Given the description of an element on the screen output the (x, y) to click on. 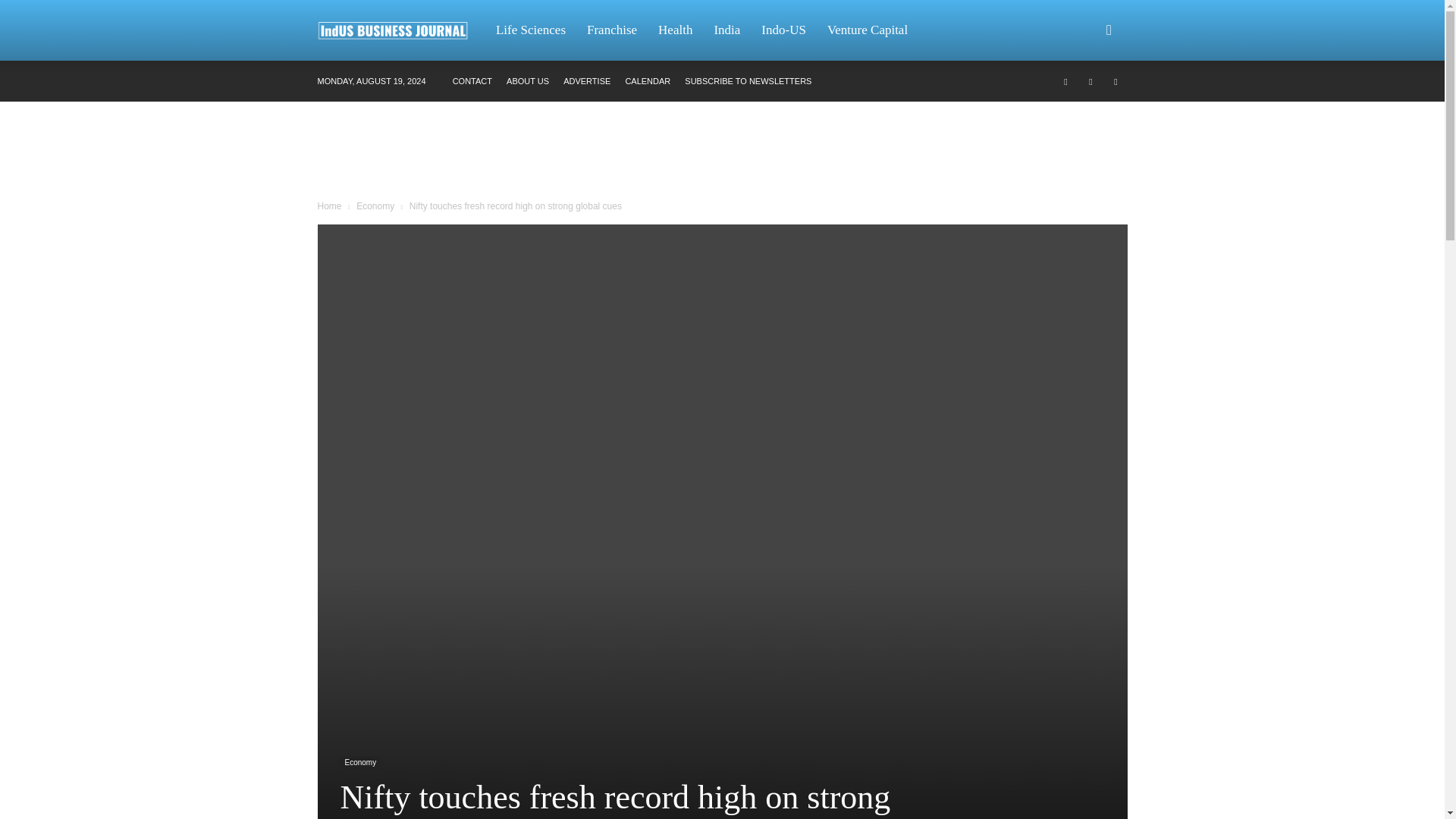
Franchise (611, 30)
Home (328, 205)
Search (1085, 102)
View all posts in Economy (375, 205)
Venture Capital (867, 30)
Indo-US (783, 30)
CALENDAR (646, 80)
Life Sciences (530, 30)
ABOUT US (527, 80)
Economy (359, 762)
